Given the description of an element on the screen output the (x, y) to click on. 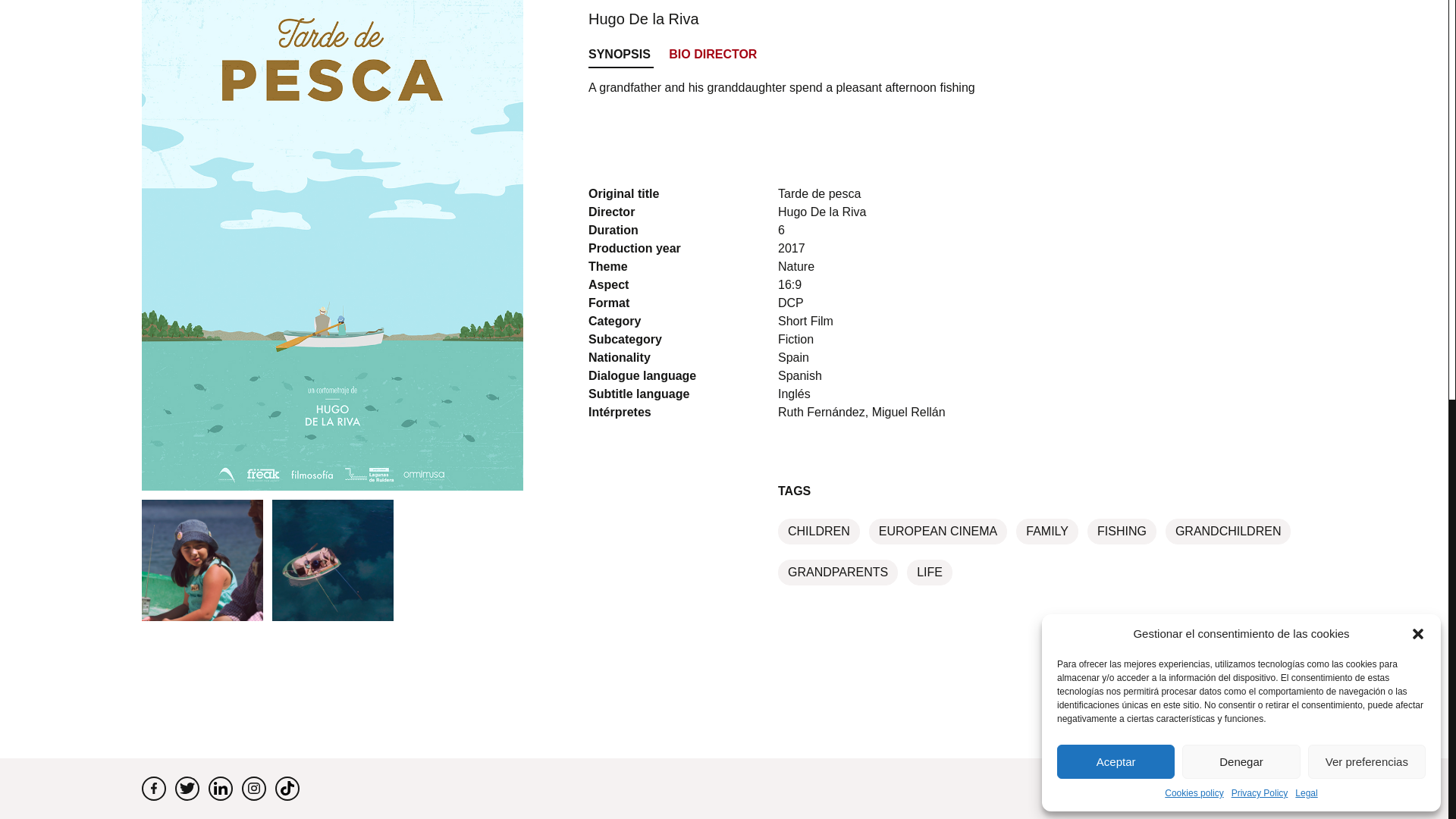
SYNOPSIS (620, 56)
GRANDCHILDREN (1228, 531)
Privacy Policy (1259, 11)
FAMILY (1047, 531)
Fiction (795, 338)
CHILDREN (818, 531)
GRANDPARENTS (837, 572)
Short Film (804, 319)
FISHING (1121, 531)
Cookies policy (1193, 11)
Legal (1306, 11)
EUROPEAN CINEMA (938, 531)
LIFE (929, 572)
BIO DIRECTOR (712, 56)
